Given the description of an element on the screen output the (x, y) to click on. 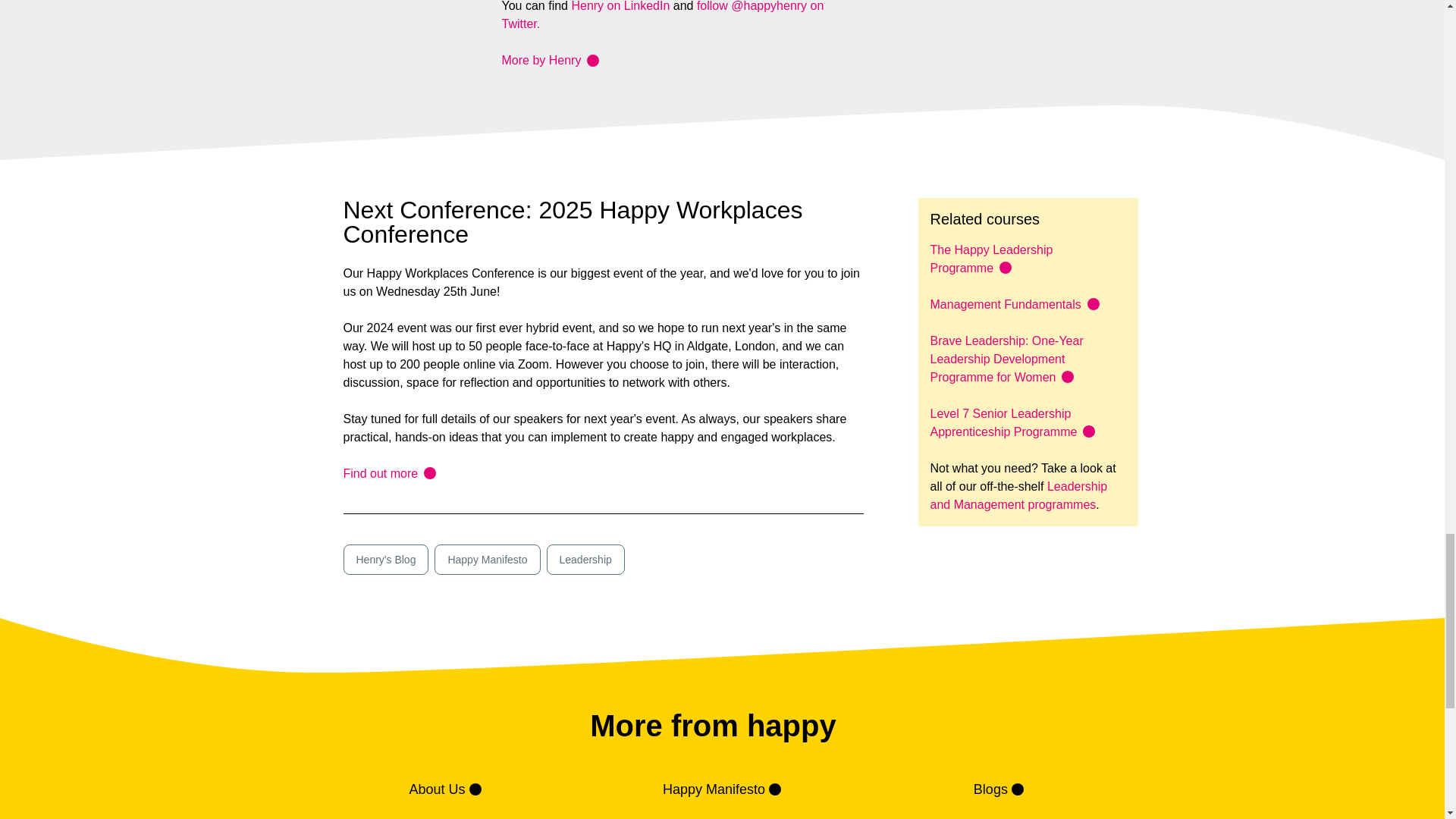
Management Fundamentals (1005, 304)
2025 Happy Workplaces Conference (388, 472)
Brave Leadership (1006, 359)
Leadership and Management Programmes (1018, 495)
Happy Leadership Programme (991, 258)
Level 7 Senior Leaders Programme (1003, 422)
